Given the description of an element on the screen output the (x, y) to click on. 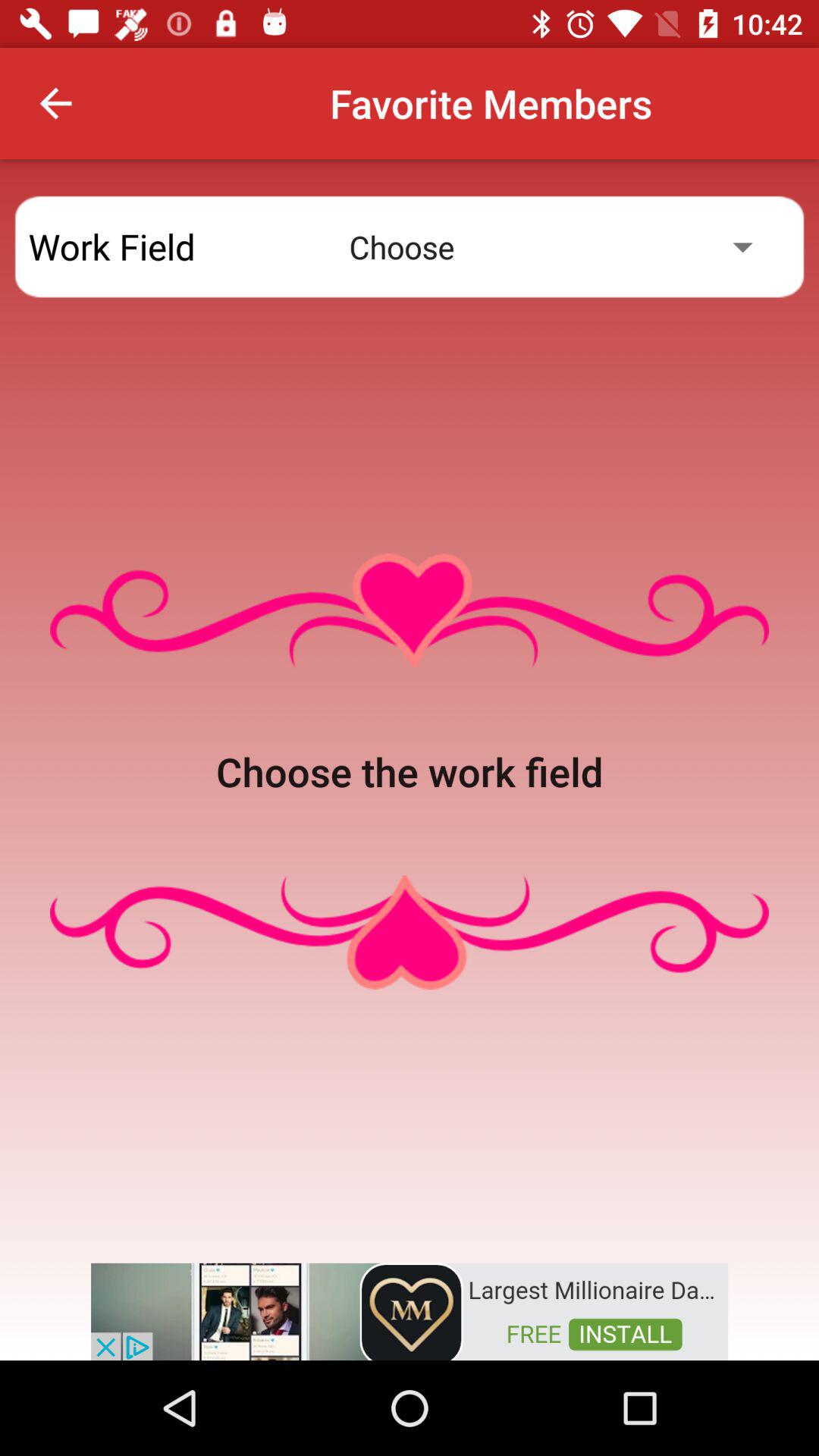
click advertisement (409, 1310)
